Given the description of an element on the screen output the (x, y) to click on. 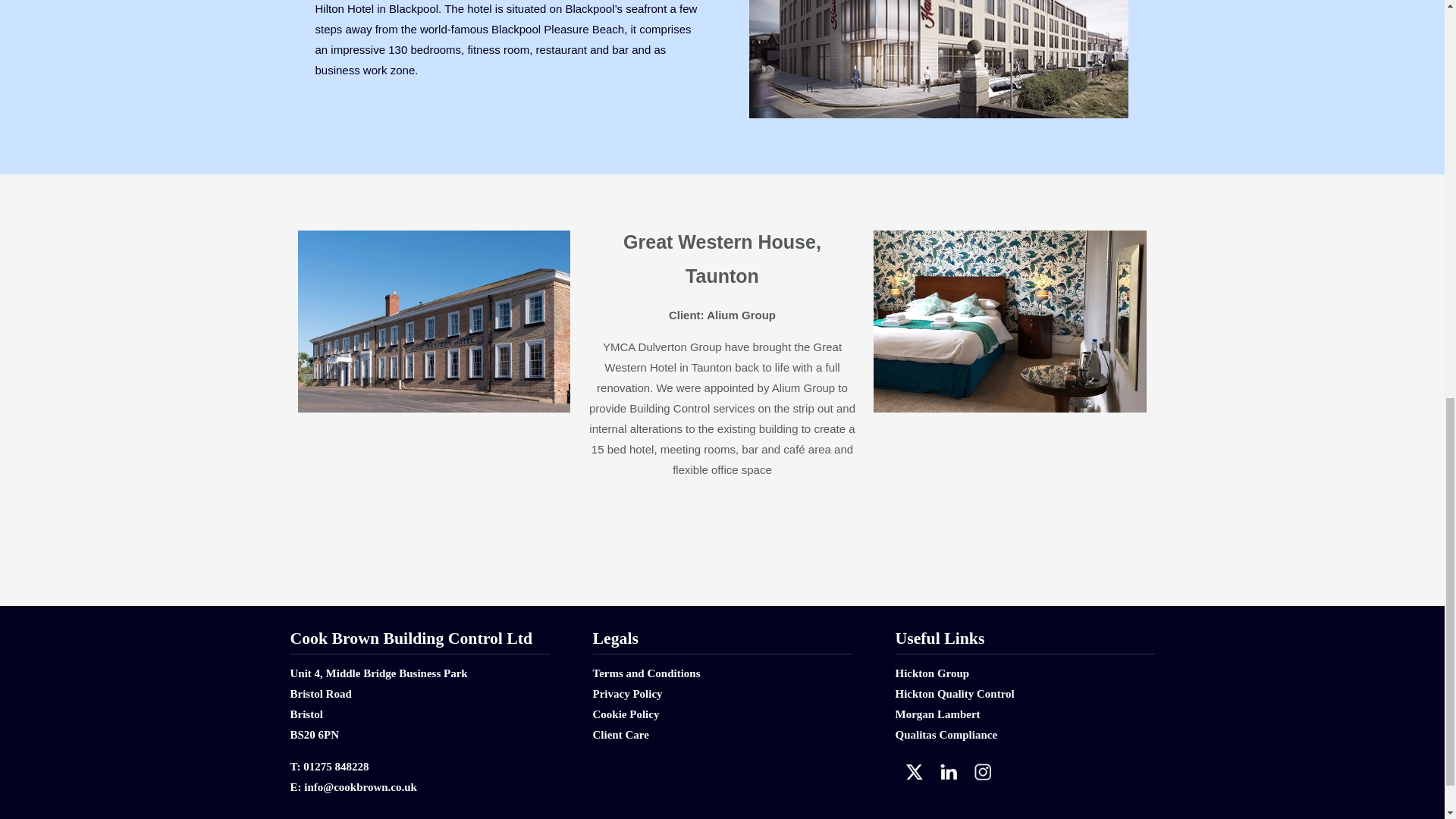
Cookie Policy (625, 714)
Instagram (982, 771)
Morgan Lambert (937, 714)
Qualitas Compliance (946, 734)
Hickton Group (932, 673)
LinkedIn (948, 771)
Cookie Policy  (625, 714)
Hickton Quality Control (954, 693)
Terms and Conditions (646, 673)
01275 848228 (335, 766)
Privacy Policy (627, 693)
Client Care (620, 734)
